Given the description of an element on the screen output the (x, y) to click on. 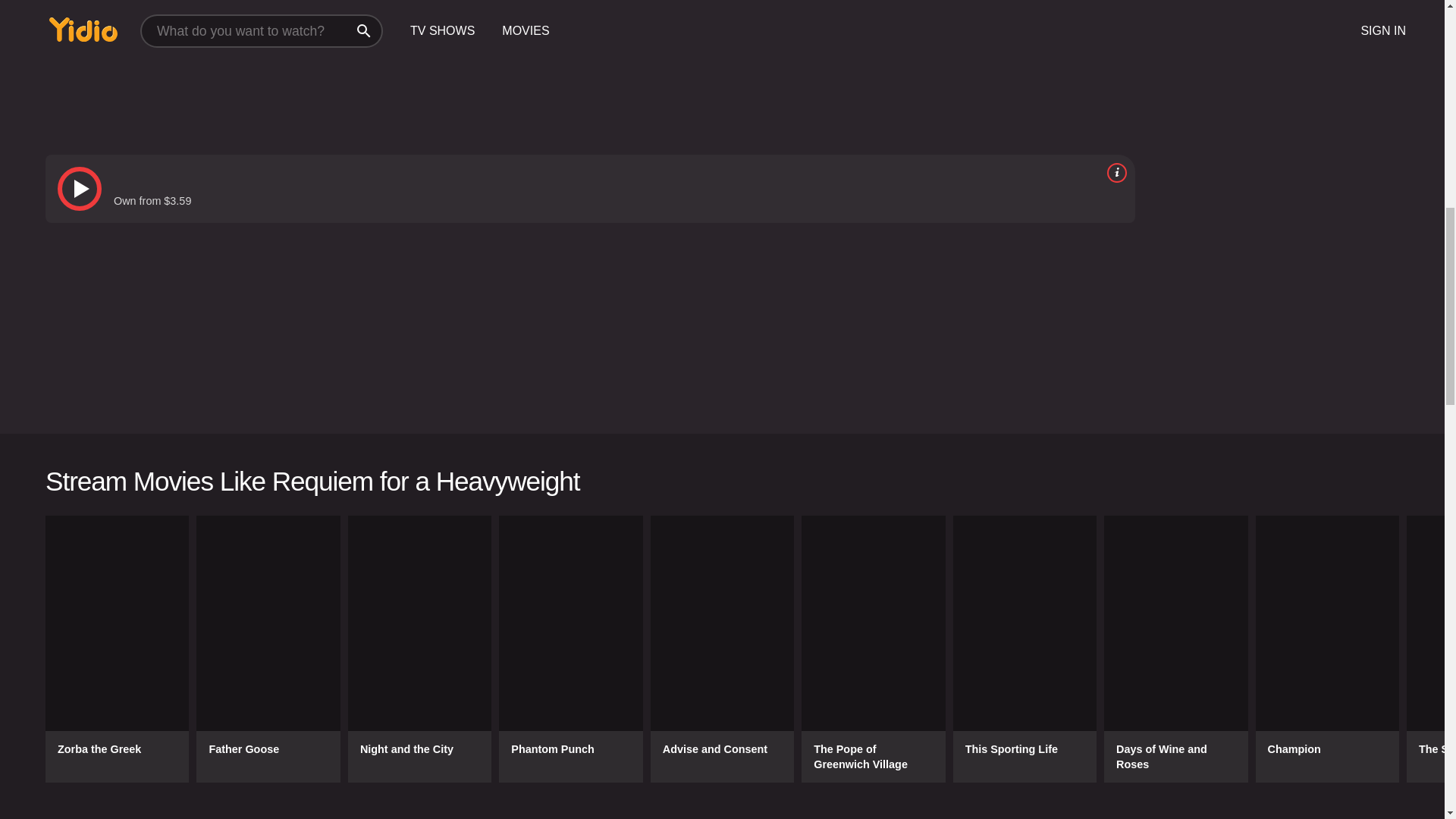
This Sporting Life (1024, 648)
Night and the City (419, 648)
Zorba the Greek (117, 648)
Days of Wine and Roses (1175, 648)
Phantom Punch (570, 648)
Father Goose (267, 648)
Advertisement (500, 63)
Advise and Consent (721, 648)
Advertisement (1285, 185)
Champion (1327, 648)
The Pope of Greenwich Village (873, 648)
